Given the description of an element on the screen output the (x, y) to click on. 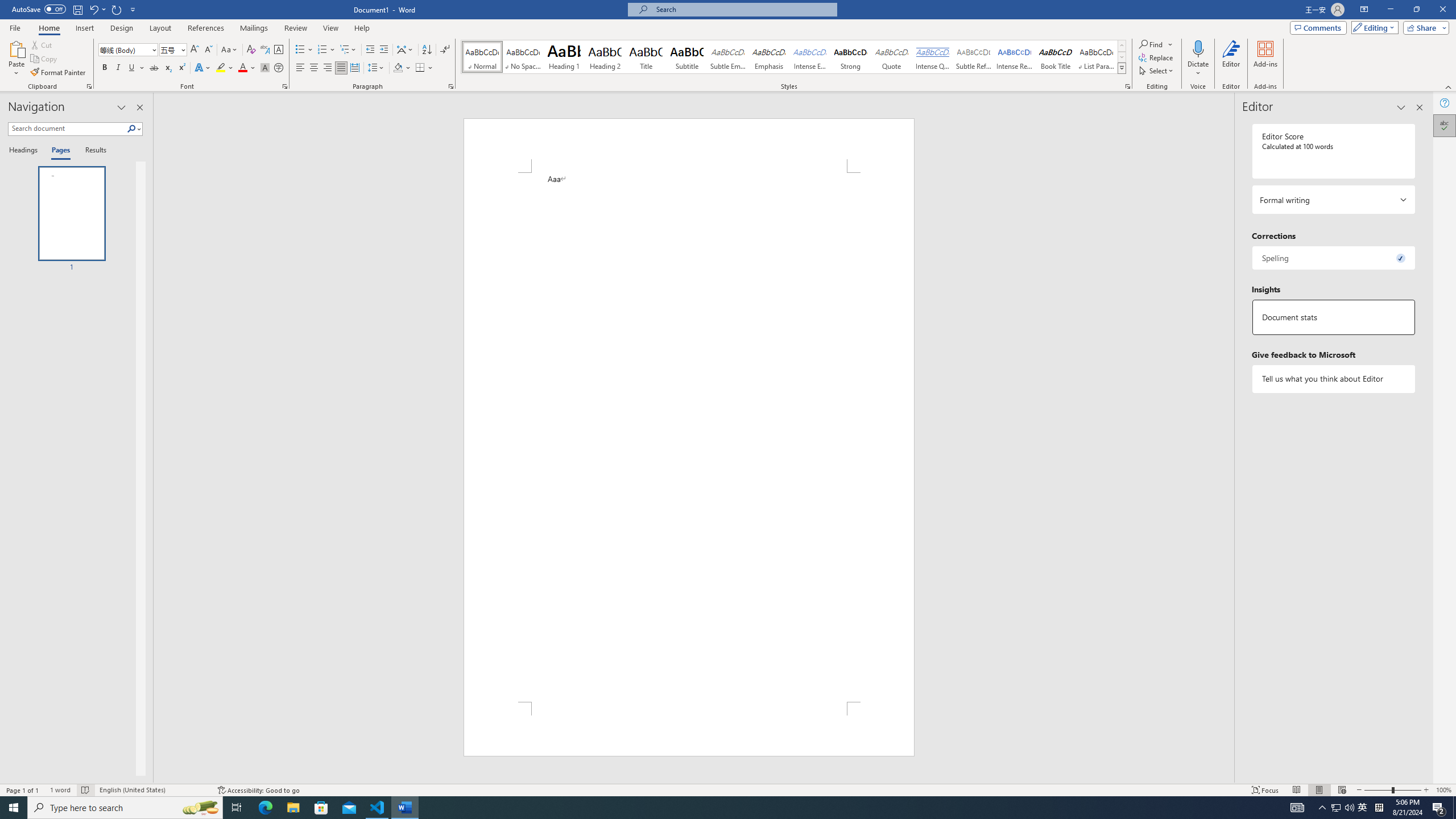
Strong (849, 56)
Page Number Page 1 of 1 (22, 790)
Zoom 100% (1443, 790)
Page 1 content (688, 436)
